Given the description of an element on the screen output the (x, y) to click on. 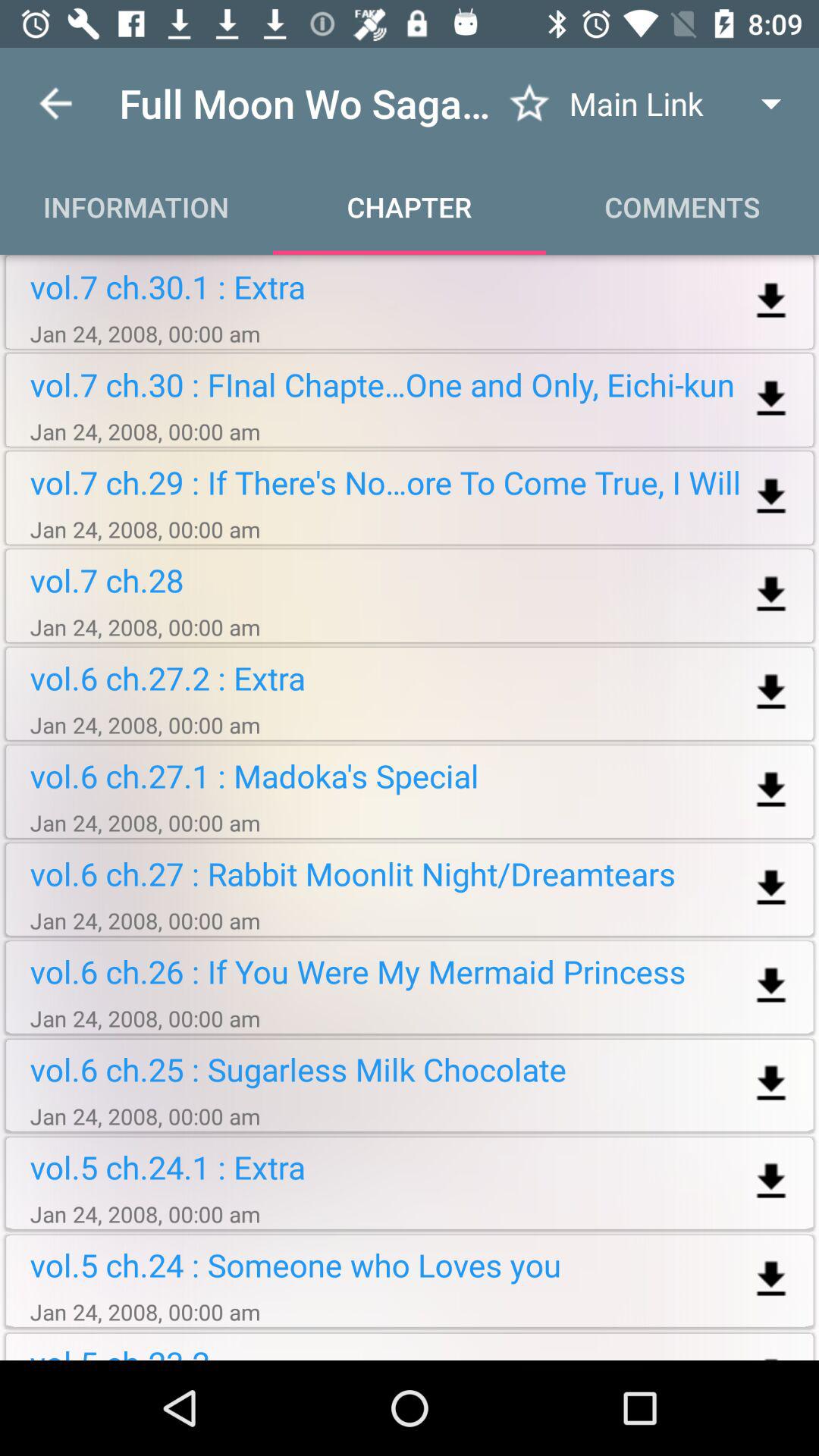
baixar musica (771, 692)
